Given the description of an element on the screen output the (x, y) to click on. 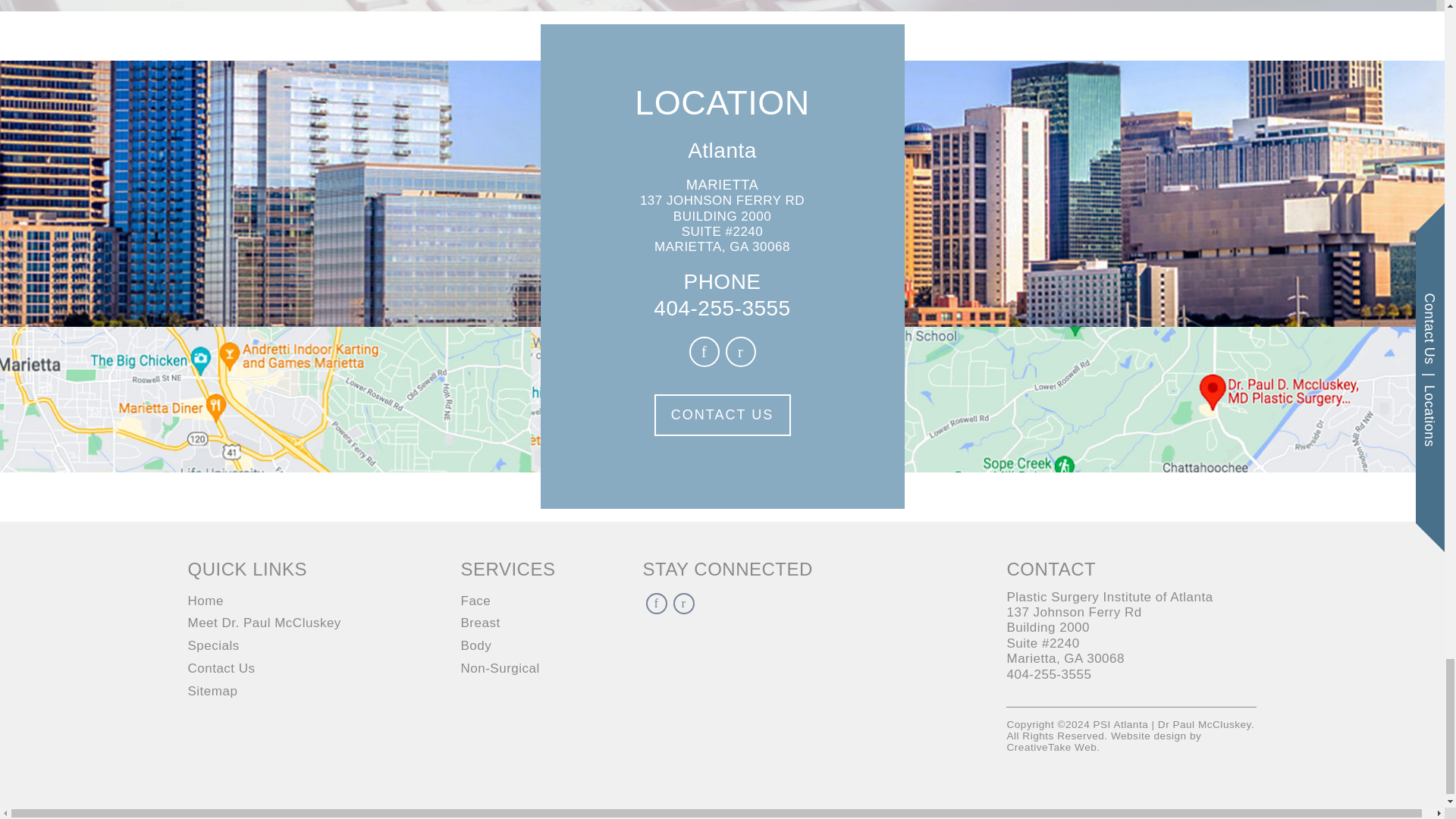
CreativeTake Medical (1052, 747)
